Given the description of an element on the screen output the (x, y) to click on. 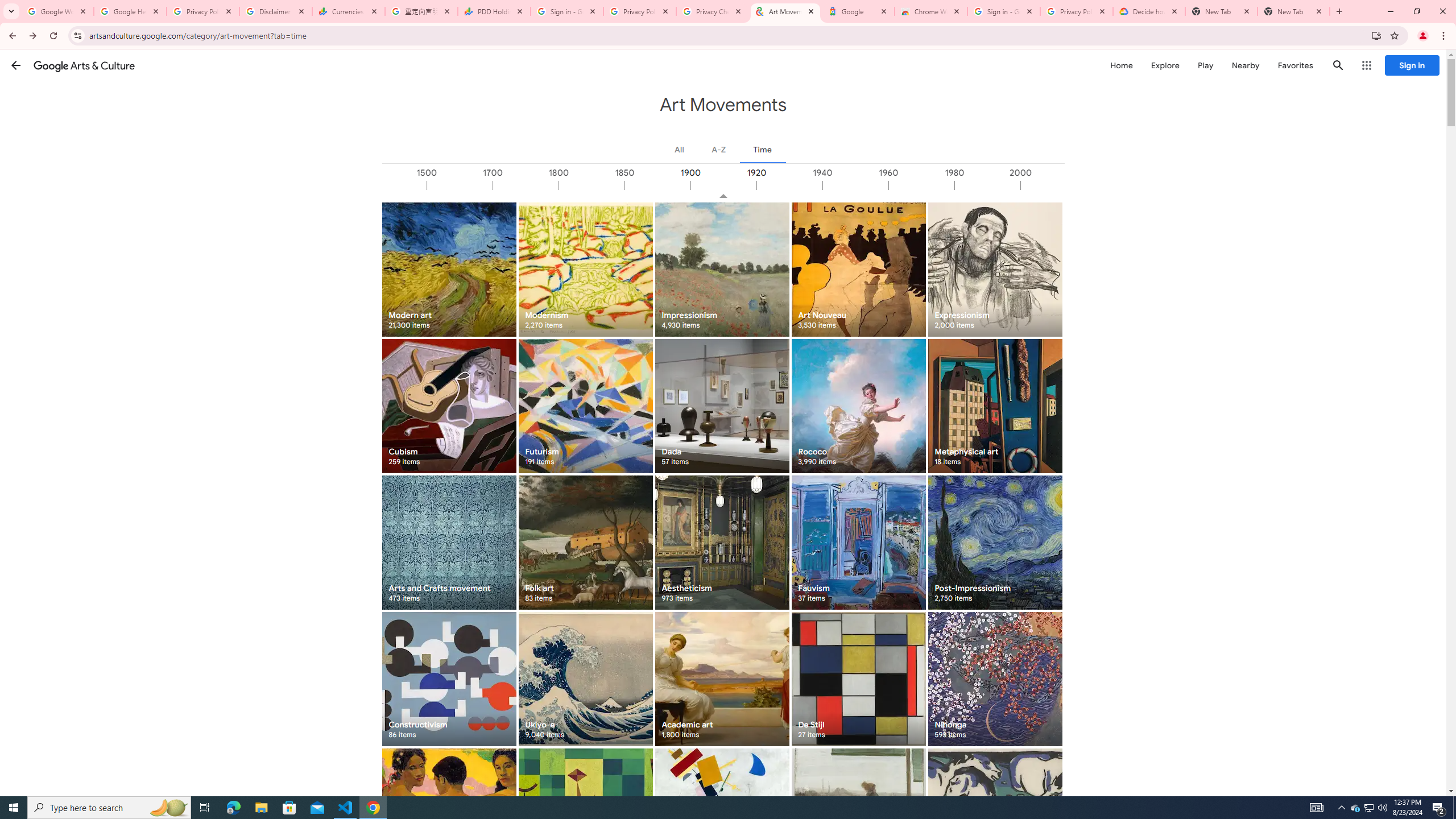
Privacy Checkup (712, 11)
1850 (657, 185)
Expressionism 2,000 items (994, 269)
Post-Impressionism 2,750 items (994, 542)
Explore (1164, 65)
Impressionism 4,930 items (722, 269)
Google (857, 11)
Ukiyo-e 9,040 items (585, 678)
Rococo 3,990 items (858, 406)
